Given the description of an element on the screen output the (x, y) to click on. 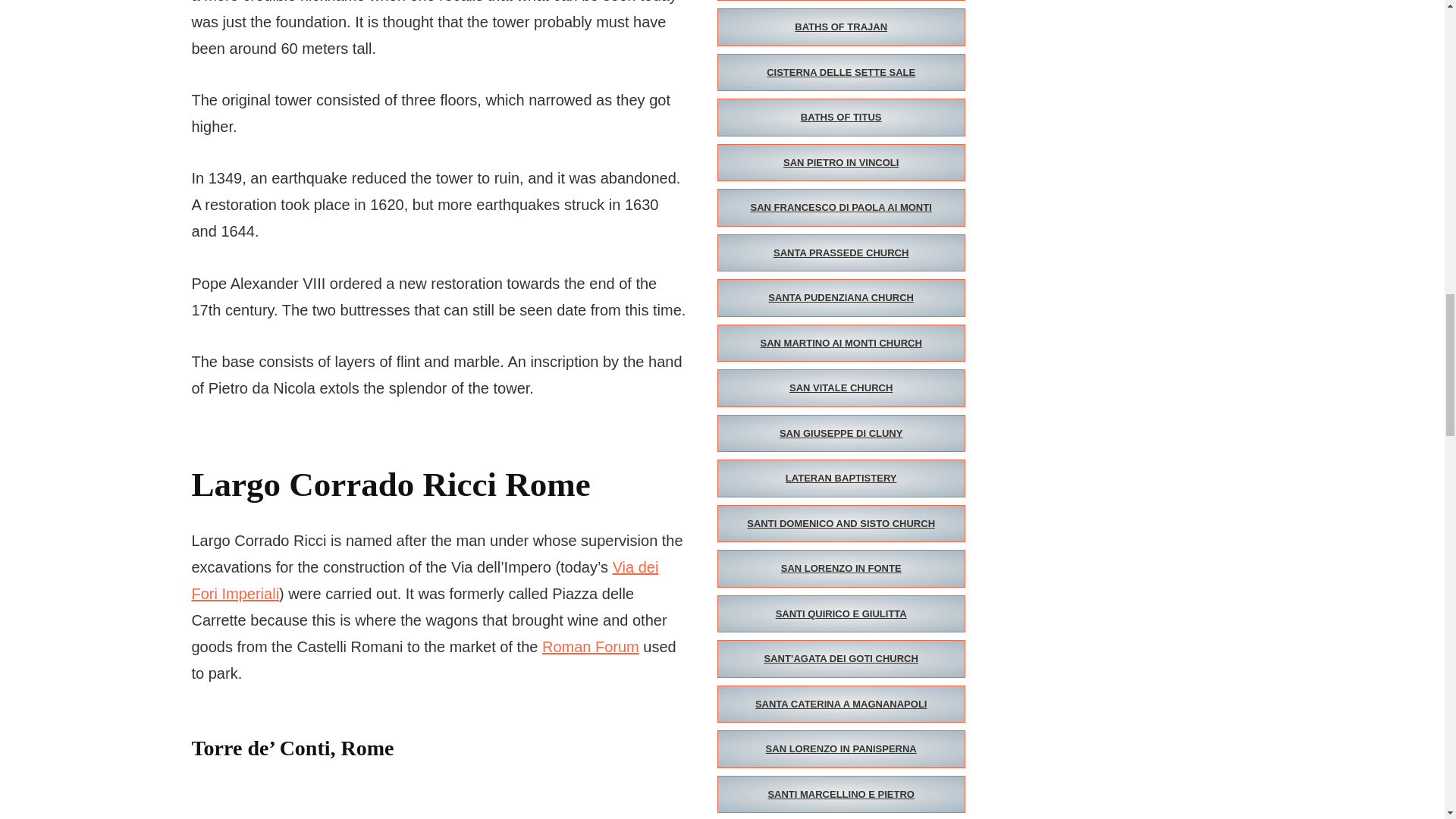
Via dei Fori Imperiali (424, 579)
Roman Forum (590, 646)
